Given the description of an element on the screen output the (x, y) to click on. 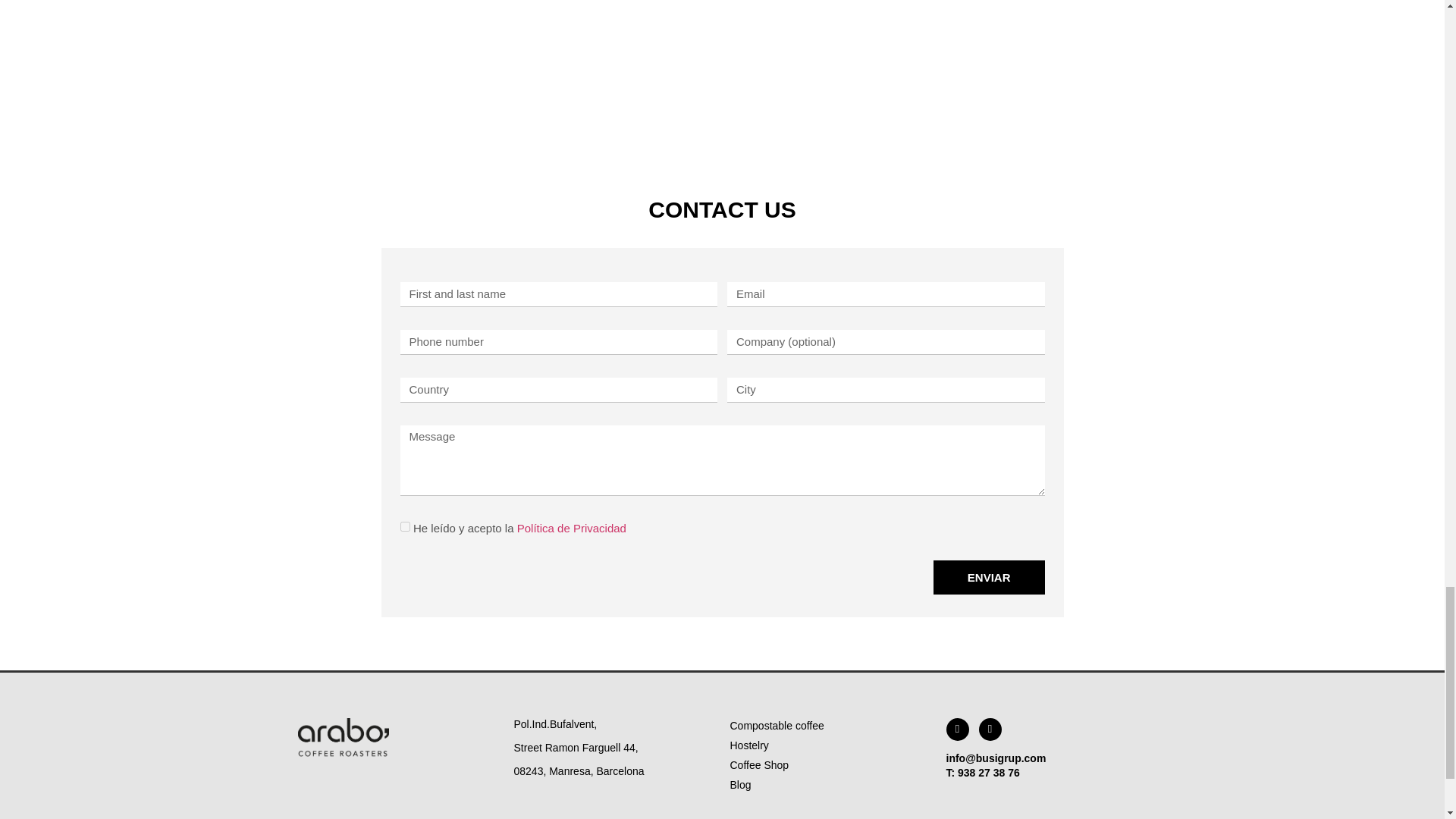
on (405, 526)
